Given the description of an element on the screen output the (x, y) to click on. 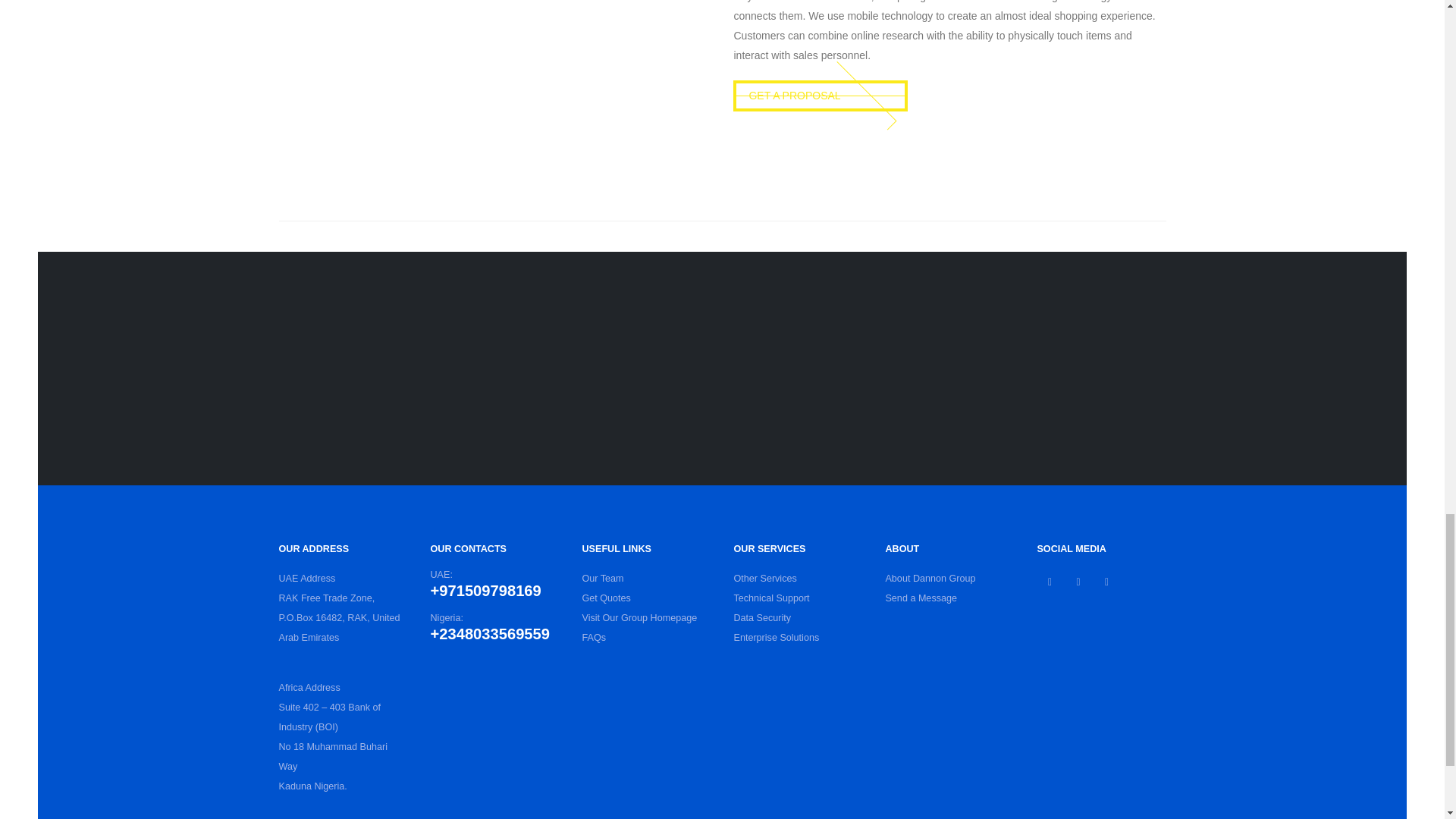
Facebook (1049, 581)
Twitter (1078, 581)
Instagram (1106, 581)
